Given the description of an element on the screen output the (x, y) to click on. 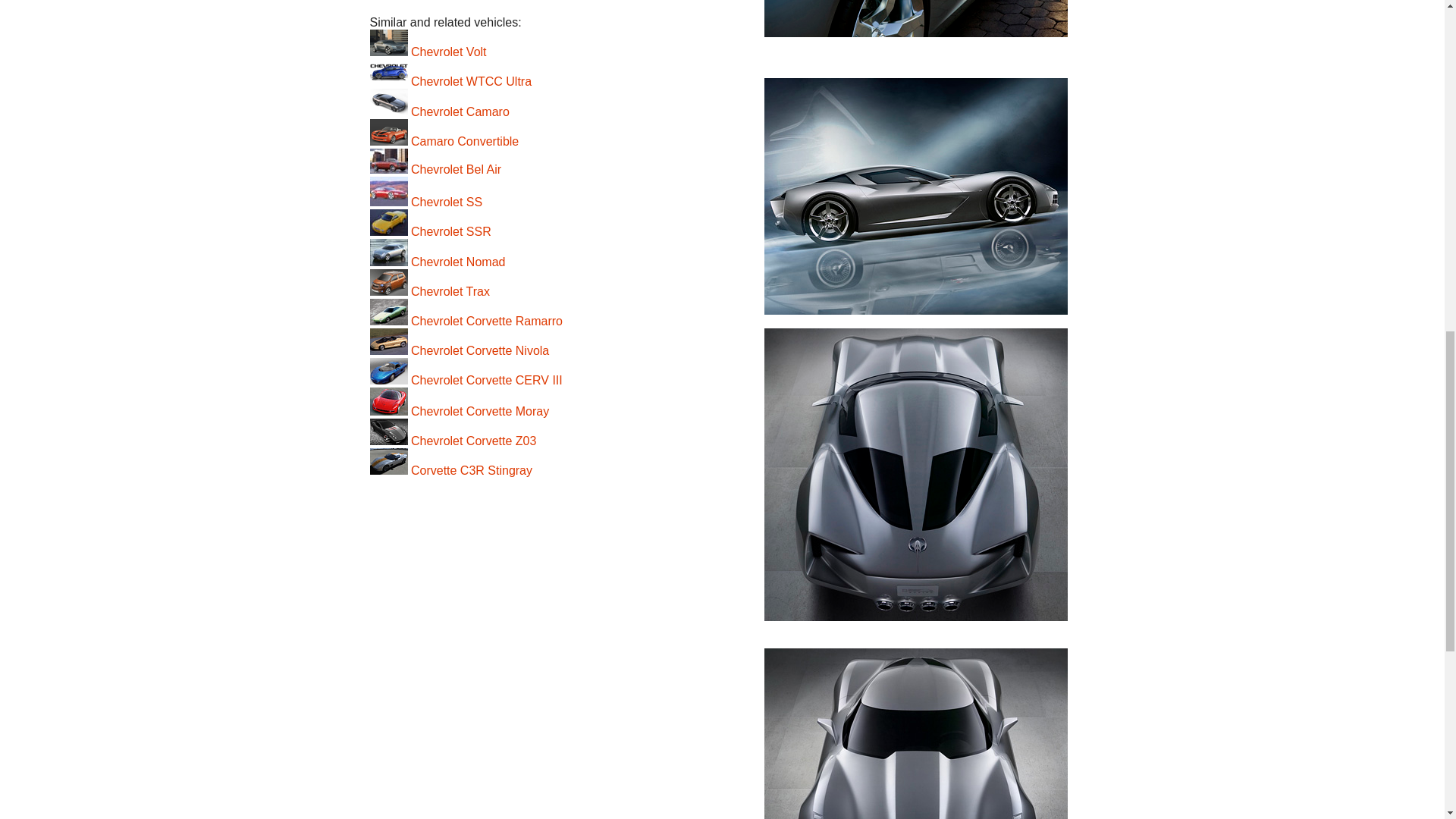
Chevrolet SSR (430, 231)
Chevrolet Volt (427, 51)
Chevrolet Corvette Nivola (459, 350)
Chevrolet Corvette Moray (459, 410)
Chevrolet SS (426, 201)
Camaro Convertible (444, 141)
Chevrolet Nomad (437, 261)
Chevrolet WTCC Ultra (450, 81)
Chevrolet Camaro (439, 111)
Chevrolet Trax (429, 291)
